Given the description of an element on the screen output the (x, y) to click on. 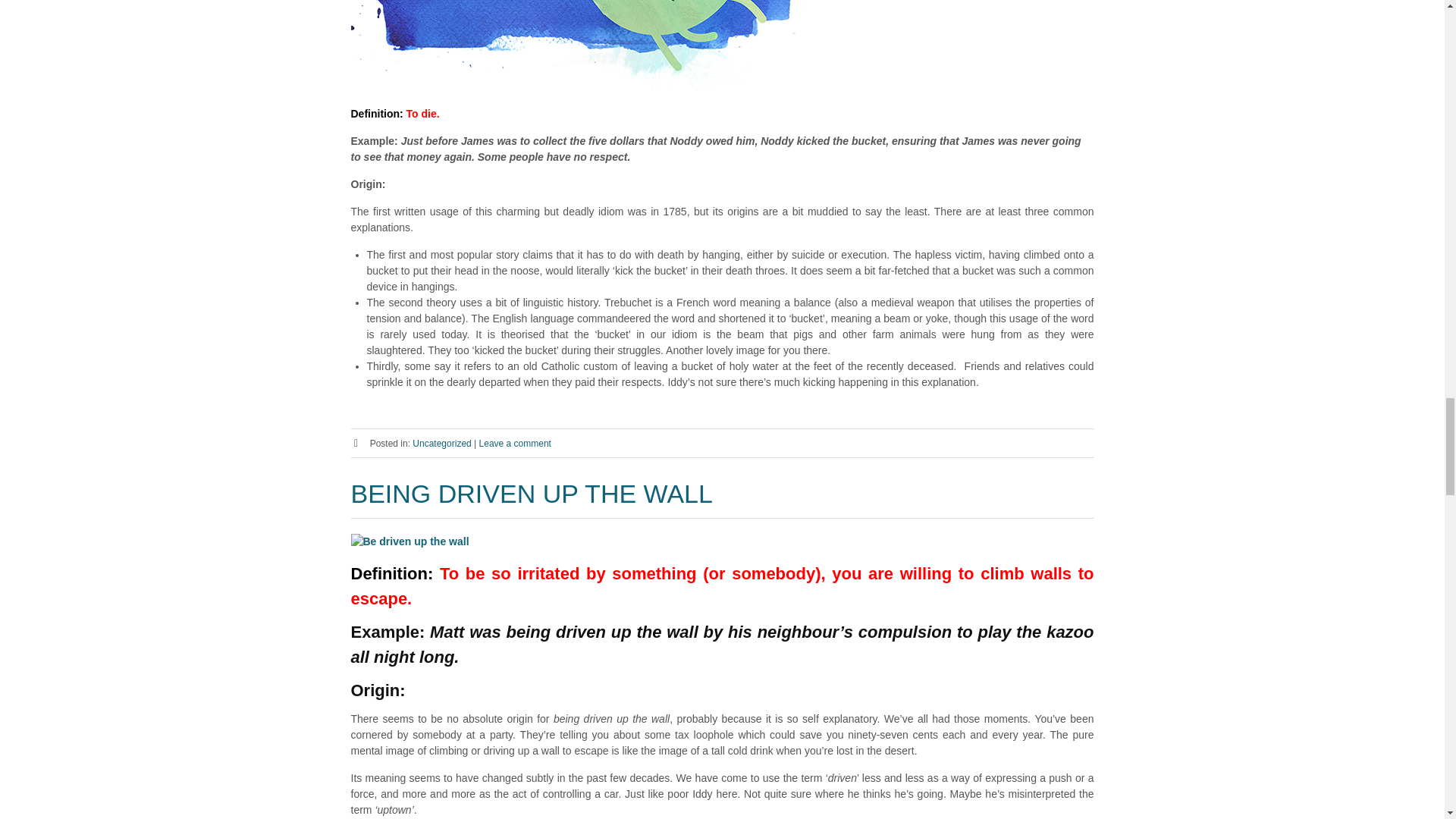
BEING DRIVEN UP THE WALL (530, 493)
Uncategorized (441, 443)
Leave a comment (515, 443)
